Given the description of an element on the screen output the (x, y) to click on. 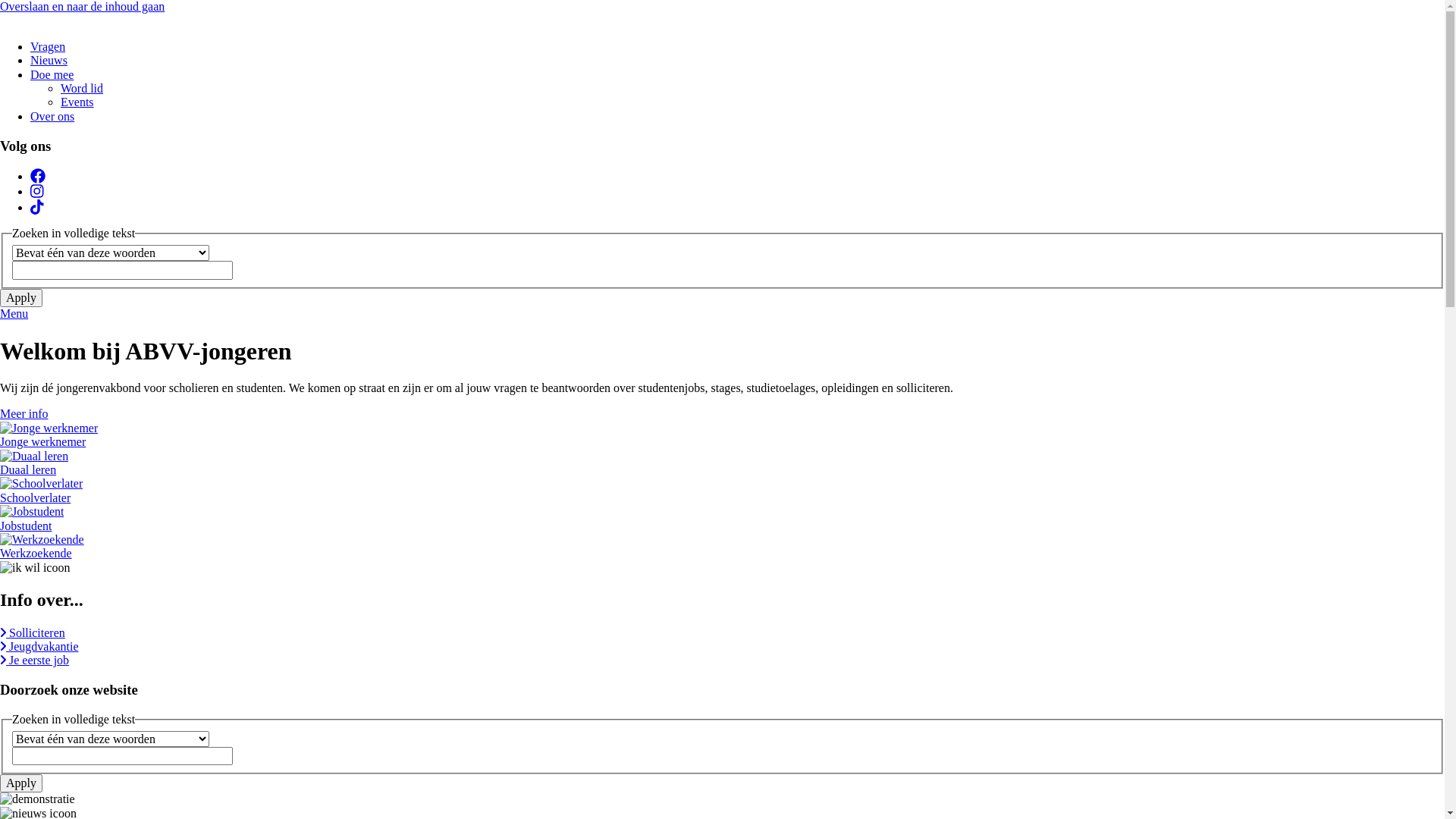
Apply Element type: text (21, 297)
Apply Element type: text (21, 783)
Solliciteren Element type: text (32, 632)
Jeugdvakantie Element type: text (39, 646)
Jonge werknemer Element type: text (722, 435)
Je eerste job Element type: text (34, 659)
Overslaan en naar de inhoud gaan Element type: text (82, 6)
Schoolverlater Element type: text (722, 490)
Word lid Element type: text (81, 87)
Vragen Element type: text (47, 46)
Menu Element type: text (722, 313)
Over ons Element type: text (52, 115)
Doe mee Element type: text (51, 74)
Werkzoekende Element type: text (722, 547)
Events Element type: text (77, 101)
Jobstudent Element type: text (722, 519)
Duaal leren Element type: text (722, 463)
Meer info Element type: text (24, 413)
Nieuws Element type: text (48, 59)
